Given the description of an element on the screen output the (x, y) to click on. 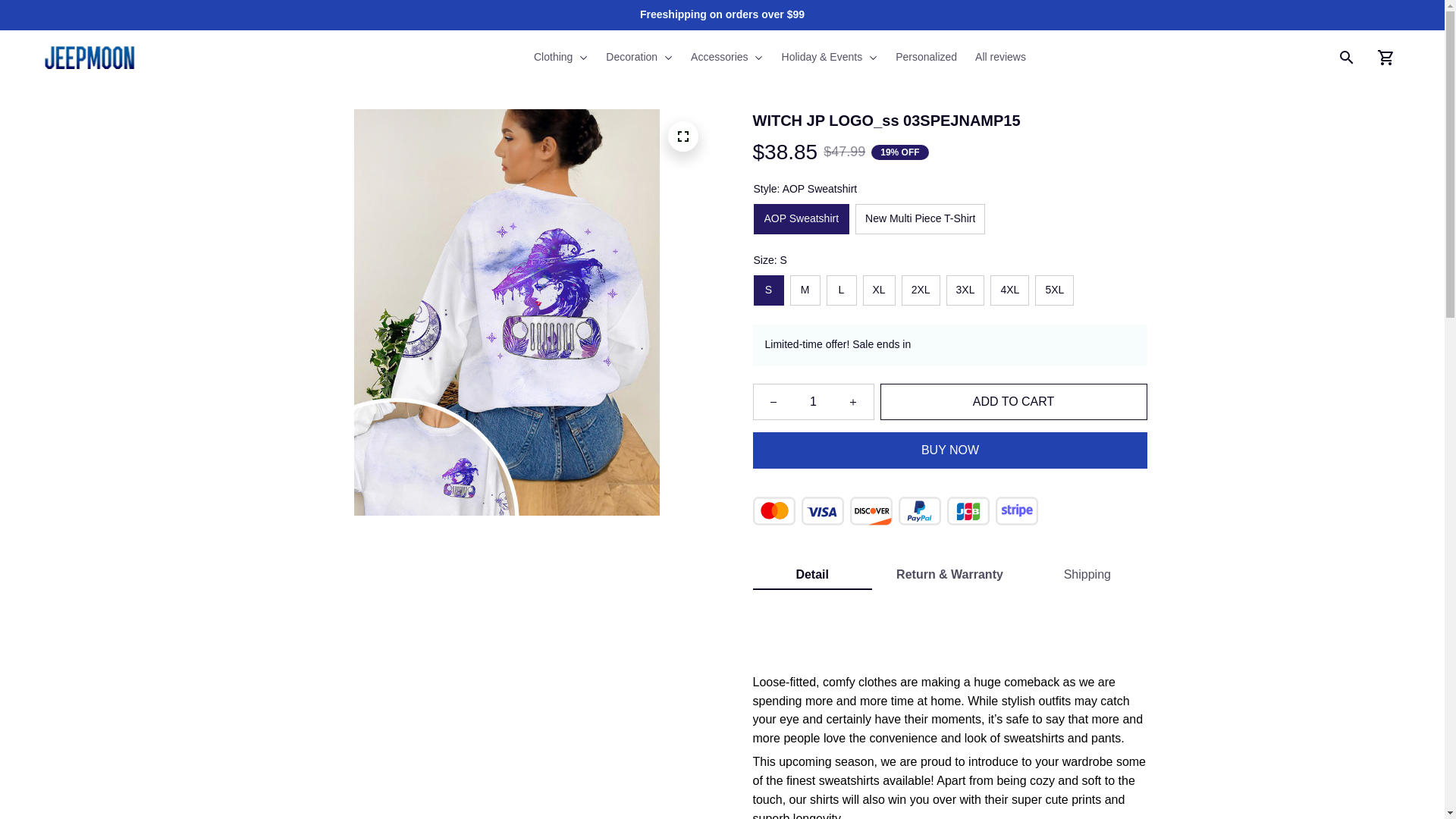
Accessories (726, 57)
Clothing (565, 57)
Detail (811, 574)
Shipping (1087, 574)
1 (812, 401)
Personalized (926, 57)
All reviews (996, 57)
Decoration (638, 57)
